Given the description of an element on the screen output the (x, y) to click on. 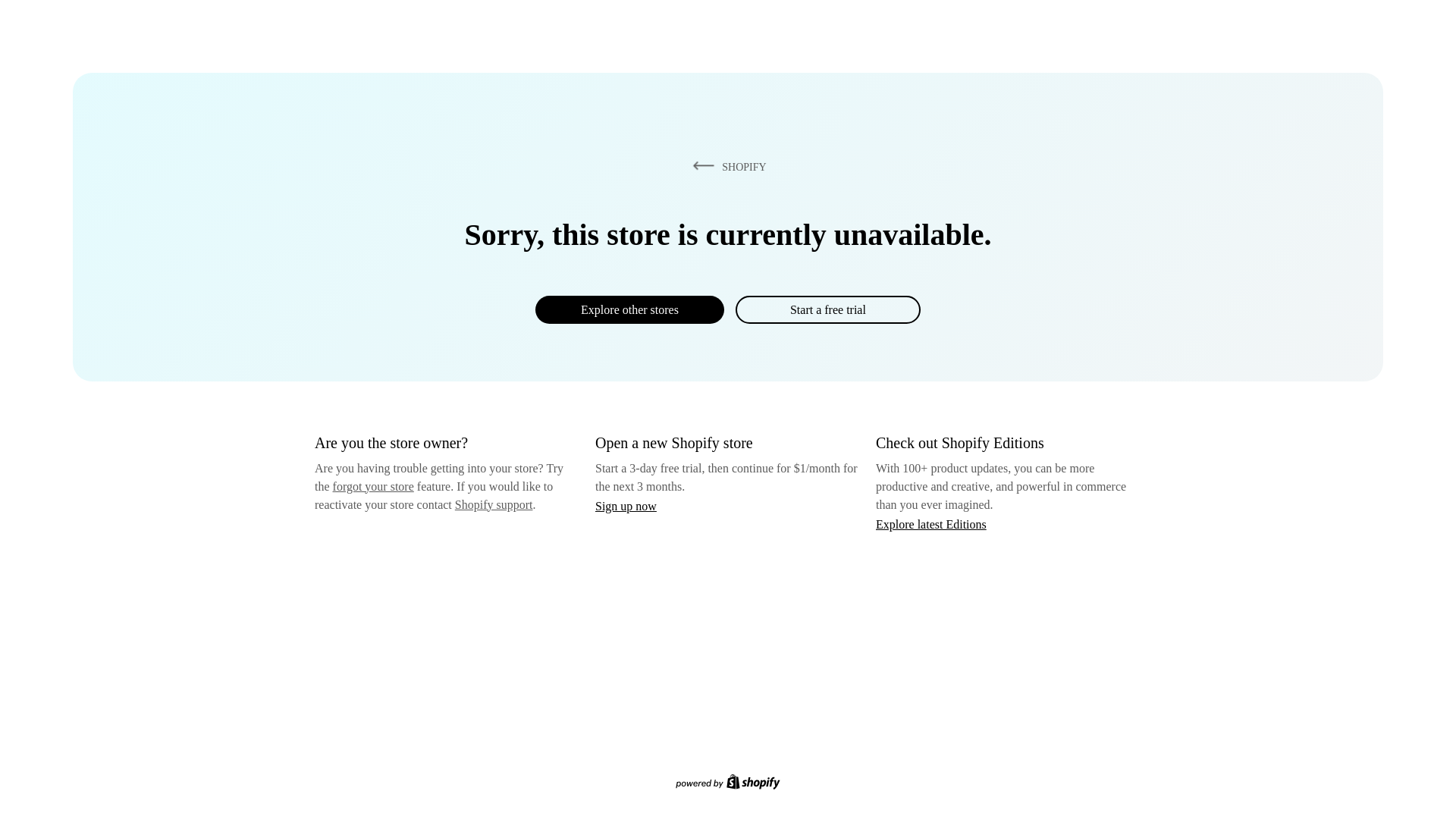
Explore latest Editions (931, 523)
Shopify support (493, 504)
Sign up now (625, 505)
forgot your store (373, 486)
Start a free trial (827, 309)
Explore other stores (629, 309)
SHOPIFY (726, 166)
